Given the description of an element on the screen output the (x, y) to click on. 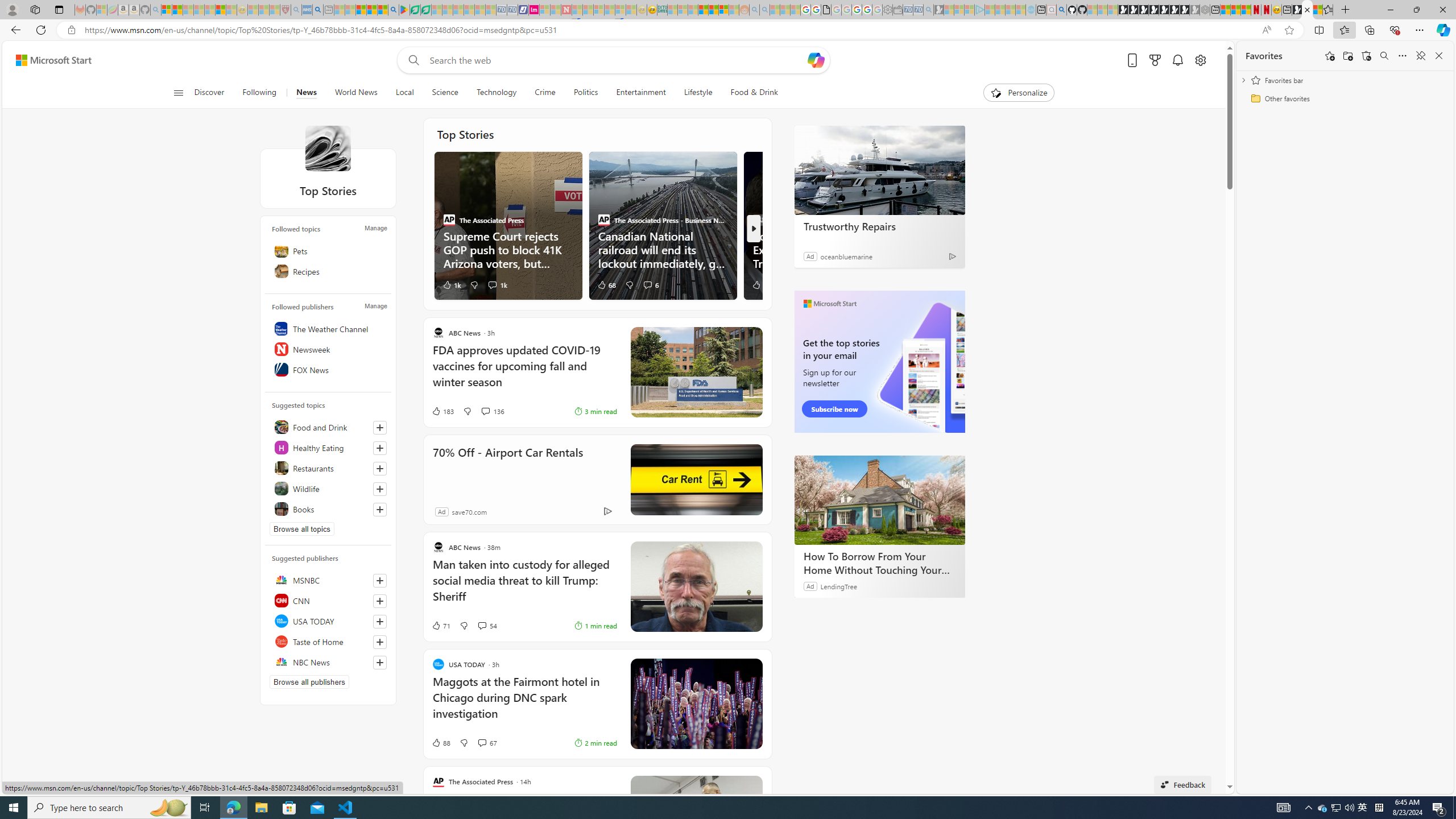
Taste of Home (327, 641)
70% Off - Airport Car Rentals (507, 467)
View comments 6 Comment (647, 284)
Add folder (1347, 55)
